Given the description of an element on the screen output the (x, y) to click on. 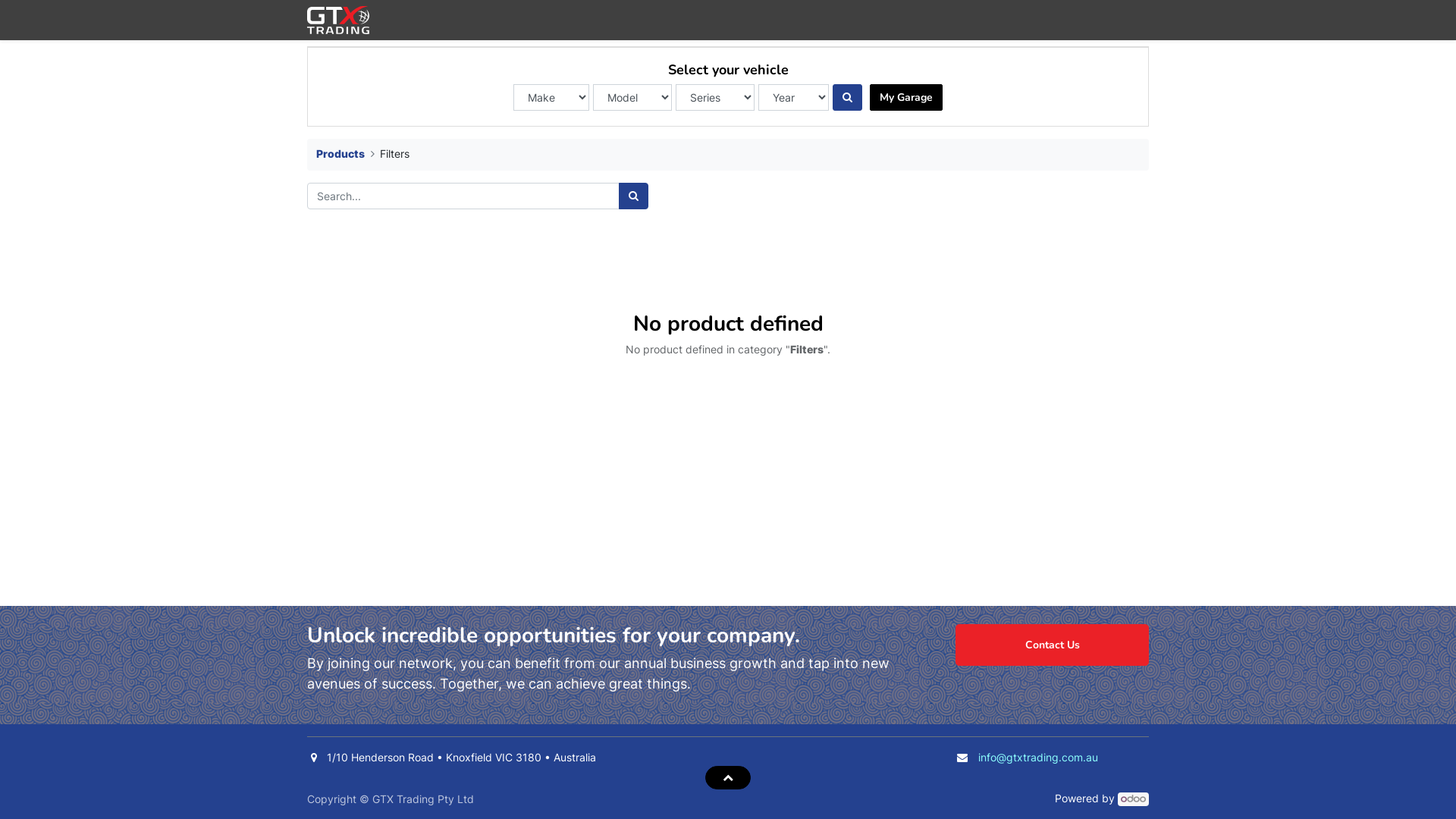
My Garage Element type: text (905, 97)
Contact Us Element type: text (1051, 644)
Products Element type: text (340, 153)
GTX Trading Pty Ltd Element type: hover (338, 20)
Search Element type: hover (633, 195)
info@gtxtrading.com.au Element type: text (1038, 756)
Scroll To Top Element type: hover (727, 776)
